Given the description of an element on the screen output the (x, y) to click on. 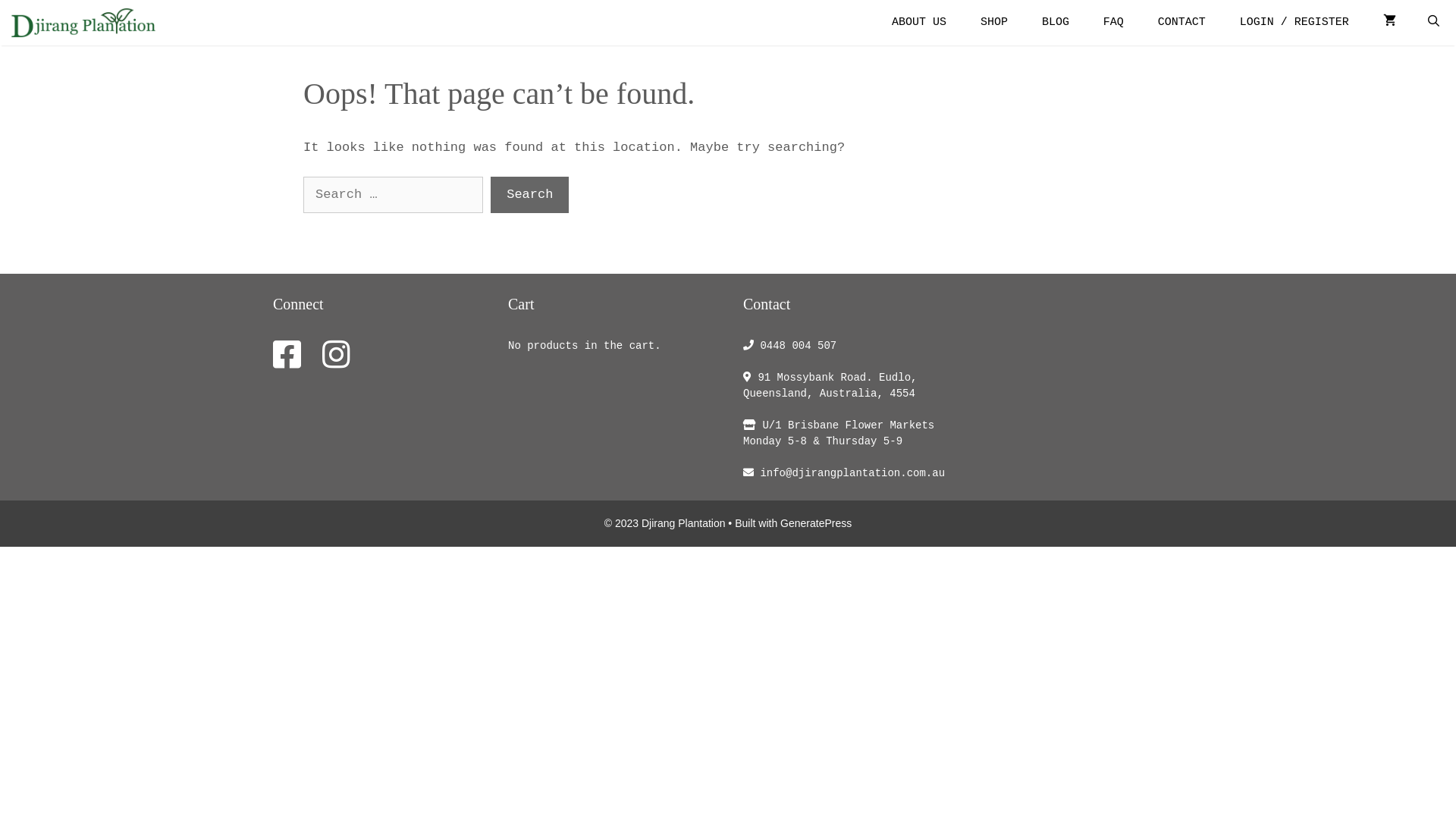
Search Element type: text (529, 194)
 info@djirangplantation.com.au Element type: text (848, 473)
Djirang Plantation Element type: hover (86, 22)
Search for: Element type: hover (393, 194)
Djirang Plantation Element type: hover (83, 22)
GeneratePress Element type: text (815, 523)
FAQ Element type: text (1113, 22)
SHOP Element type: text (993, 22)
LOGIN / REGISTER Element type: text (1294, 22)
BLOG Element type: text (1055, 22)
CONTACT Element type: text (1181, 22)
ABOUT US Element type: text (918, 22)
View your shopping cart Element type: hover (1389, 22)
